Given the description of an element on the screen output the (x, y) to click on. 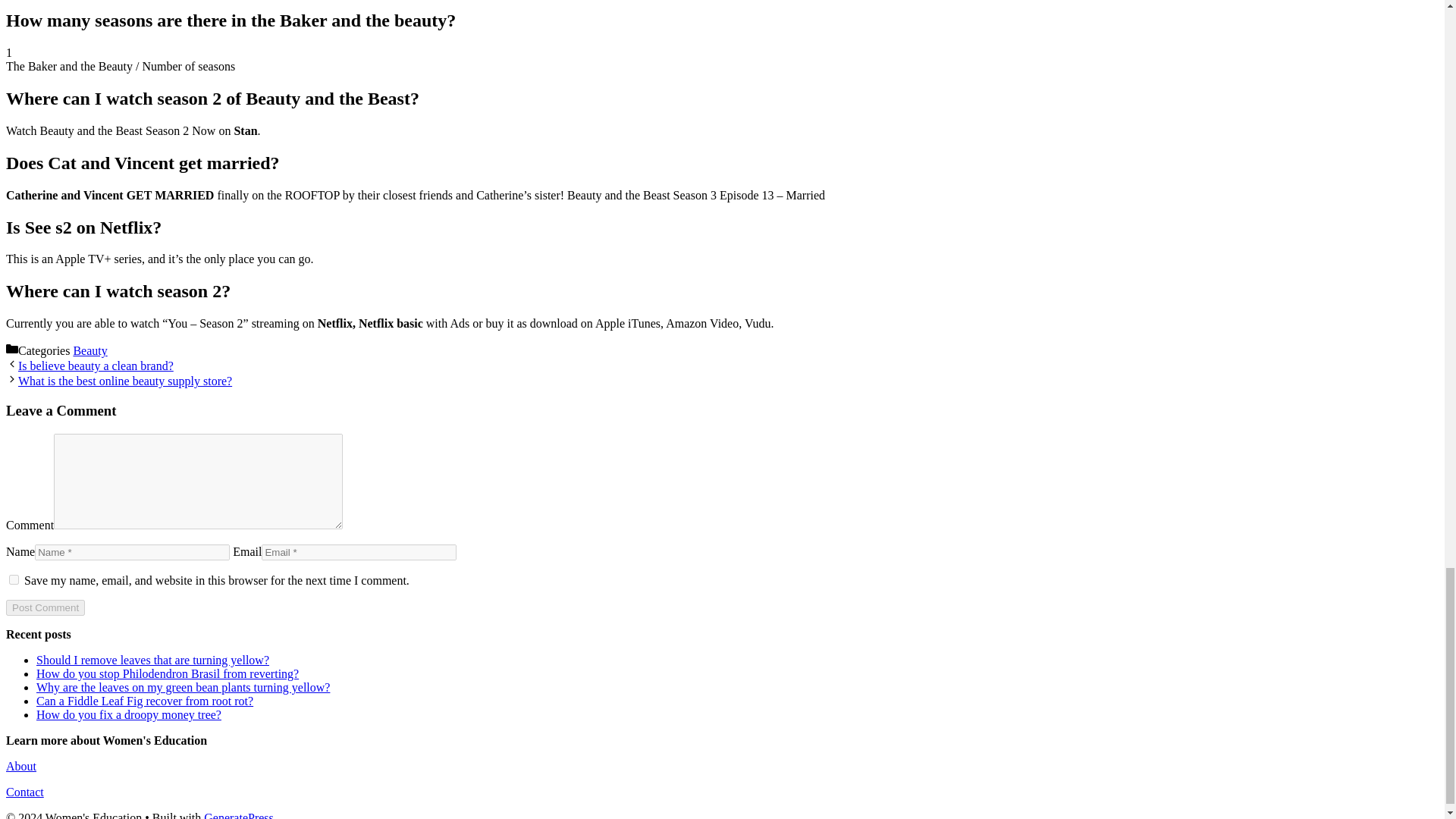
yes (13, 579)
Post Comment (44, 607)
